Given the description of an element on the screen output the (x, y) to click on. 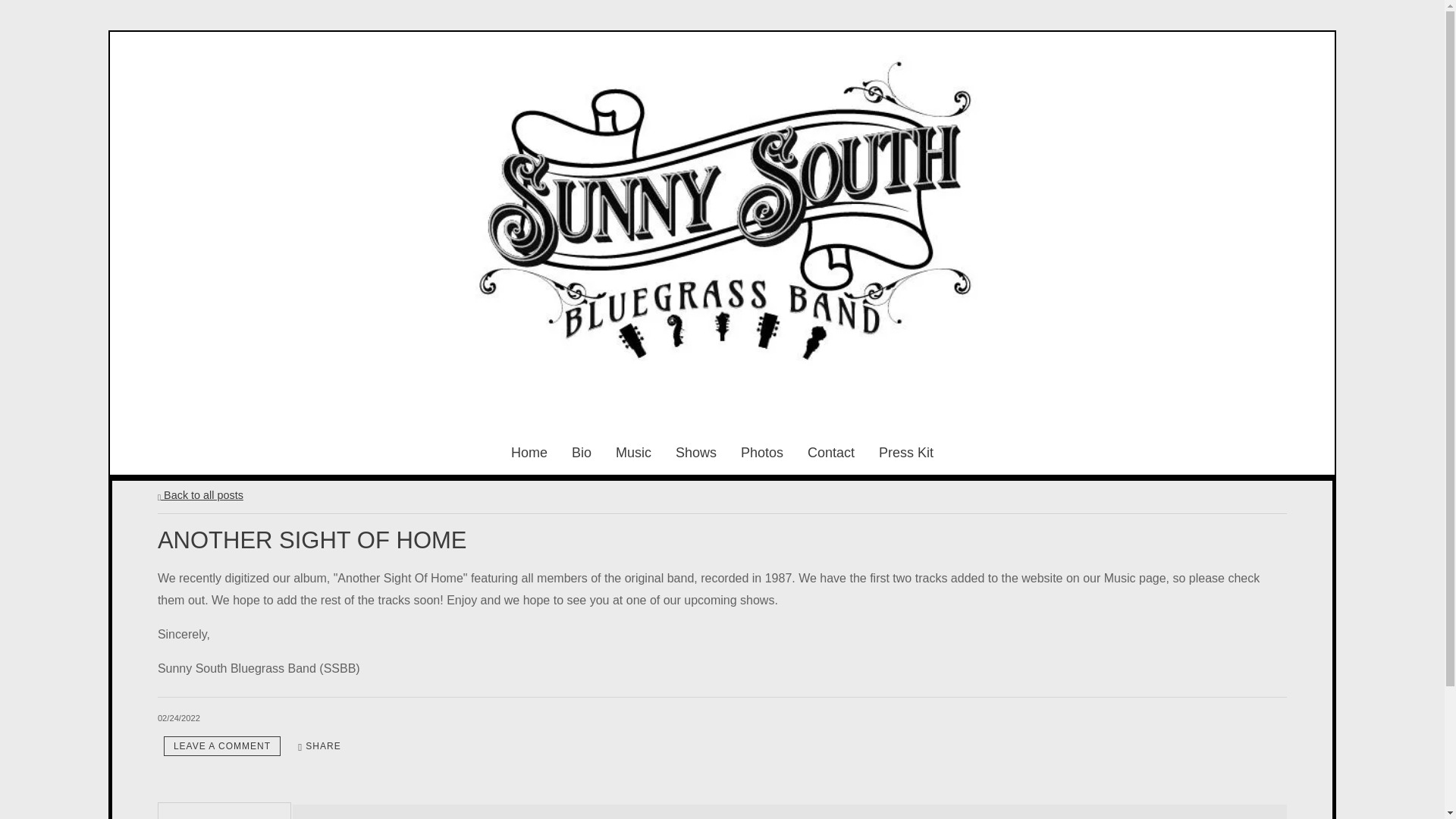
Contact (831, 453)
Back to all posts (200, 494)
Photos (762, 453)
Shows (695, 453)
February 24, 2022 21:26 (178, 717)
Music (632, 453)
LEAVE A COMMENT (222, 746)
Leave a comment (222, 746)
Home (529, 453)
Bio (581, 453)
Press Kit (906, 453)
SHARE (319, 746)
Share Another Sight Of Home (319, 746)
